Given the description of an element on the screen output the (x, y) to click on. 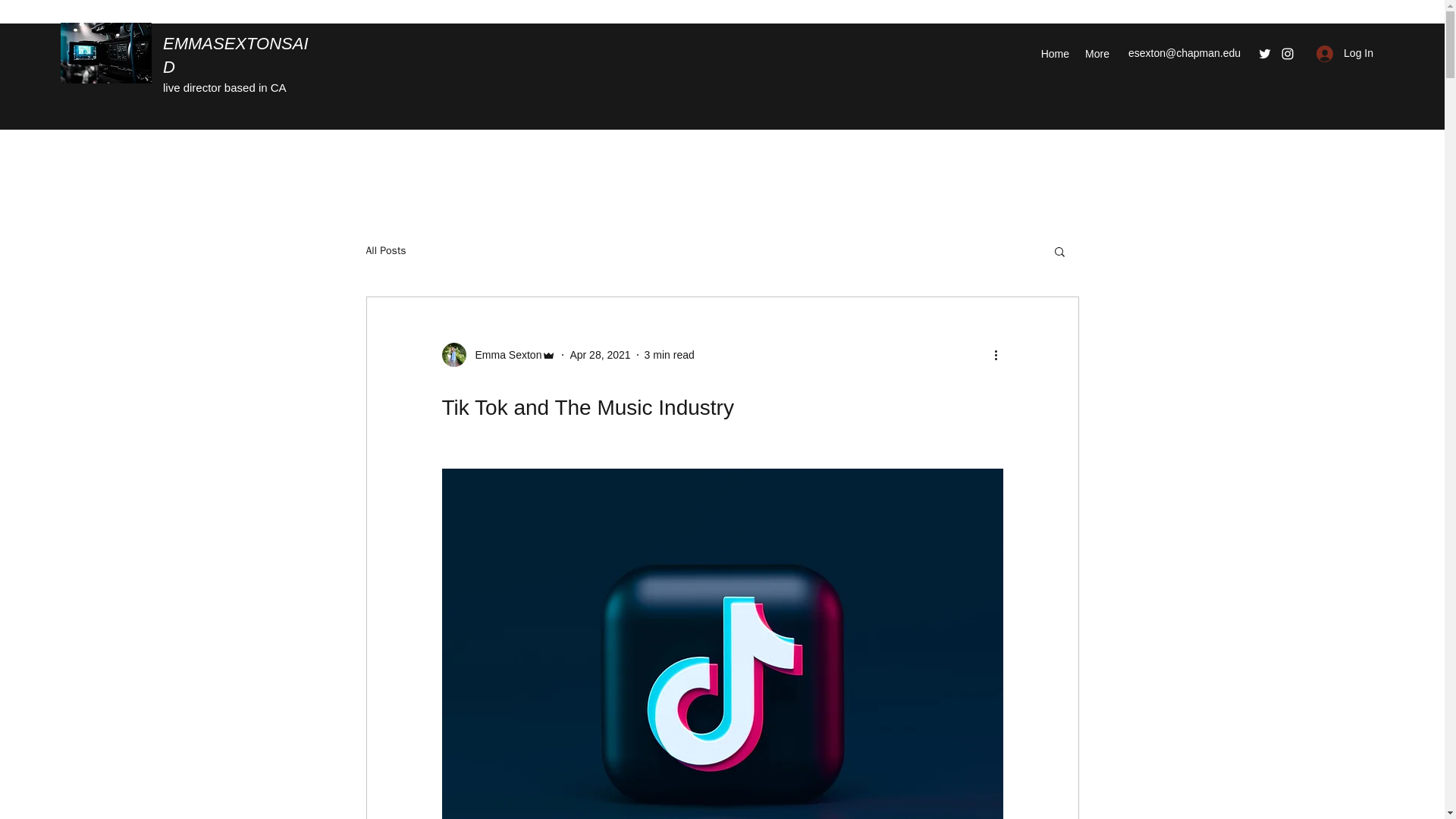
Emma Sexton (503, 355)
EMMASEXTONSAID (235, 55)
All Posts (385, 250)
Log In (1345, 53)
3 min read (669, 354)
Home (1054, 53)
Emma Sexton (498, 354)
Apr 28, 2021 (599, 354)
